Given the description of an element on the screen output the (x, y) to click on. 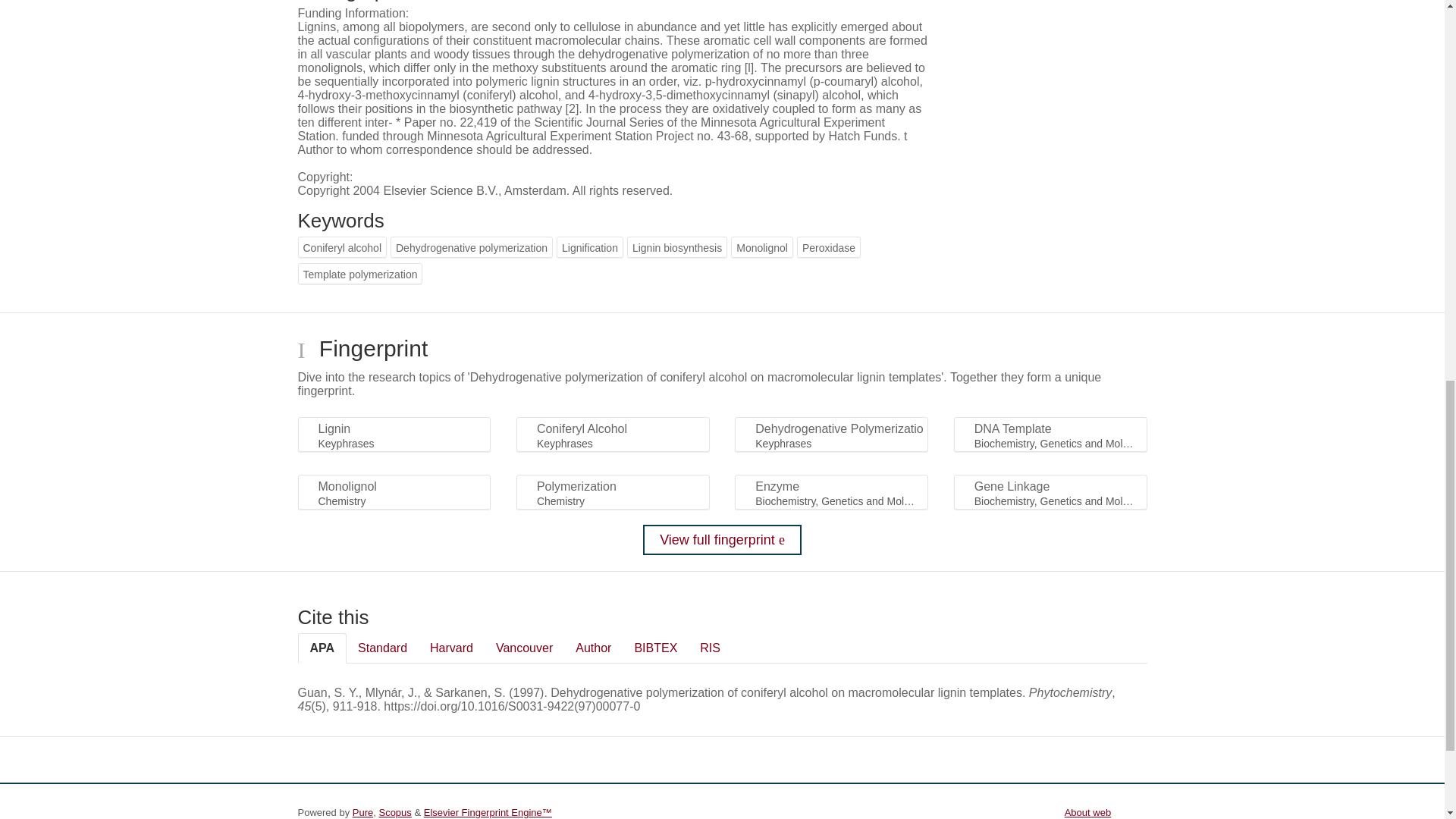
Scopus (394, 812)
Pure (362, 812)
View full fingerprint (722, 539)
